Given the description of an element on the screen output the (x, y) to click on. 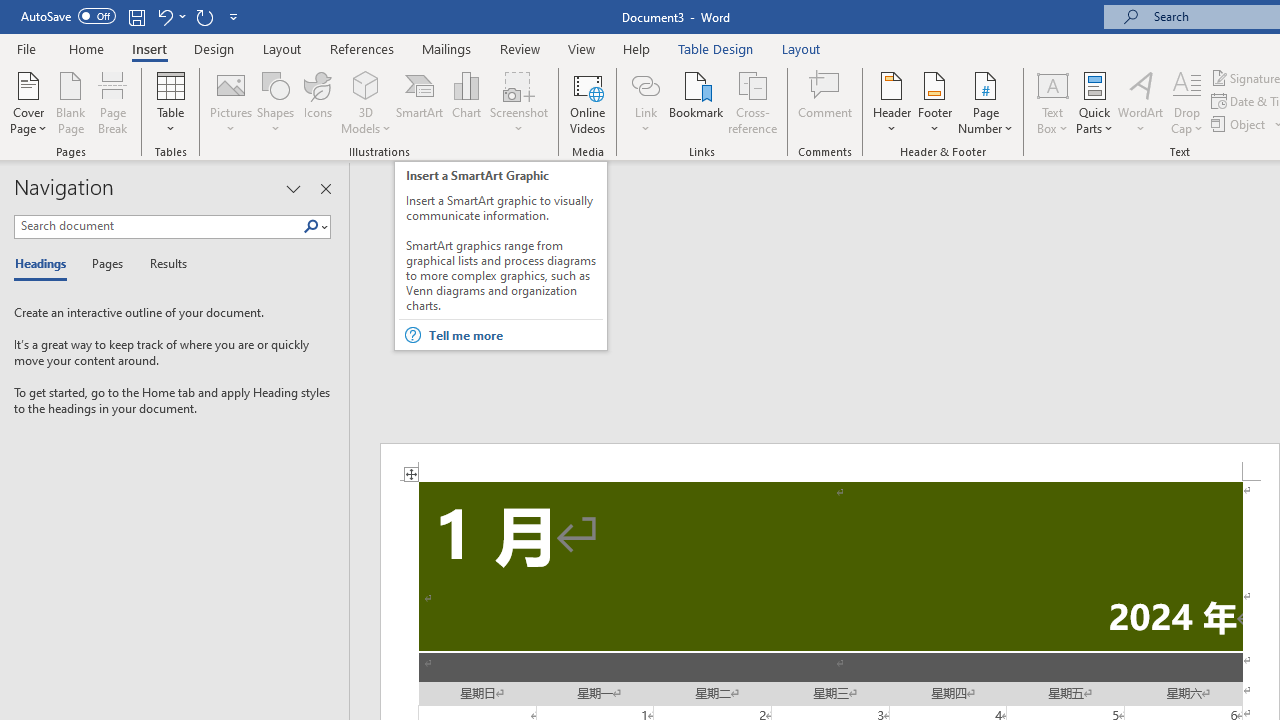
Screenshot (518, 102)
3D Models (366, 102)
Page Number (986, 102)
Drop Cap (1187, 102)
Link (645, 102)
3D Models (366, 84)
Blank Page (70, 102)
Chart... (466, 102)
Comment (825, 102)
Text Box (1052, 102)
